Given the description of an element on the screen output the (x, y) to click on. 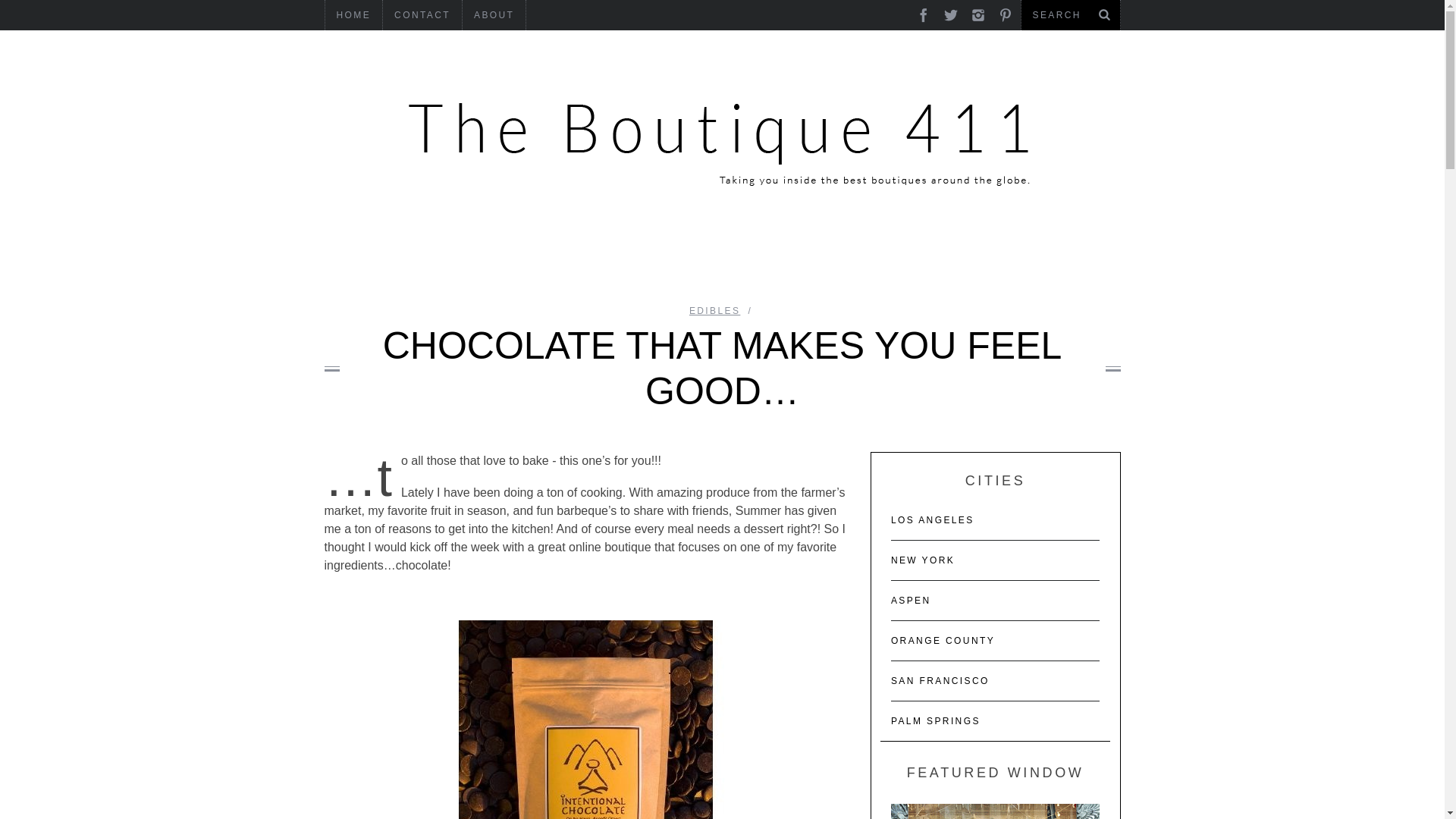
HOME (352, 14)
Contact (421, 14)
CONTACT (421, 14)
ABOUT (494, 14)
View all posts in edibles (714, 310)
Search (1070, 15)
The Boutique 411 -  (721, 136)
About (494, 14)
